Given the description of an element on the screen output the (x, y) to click on. 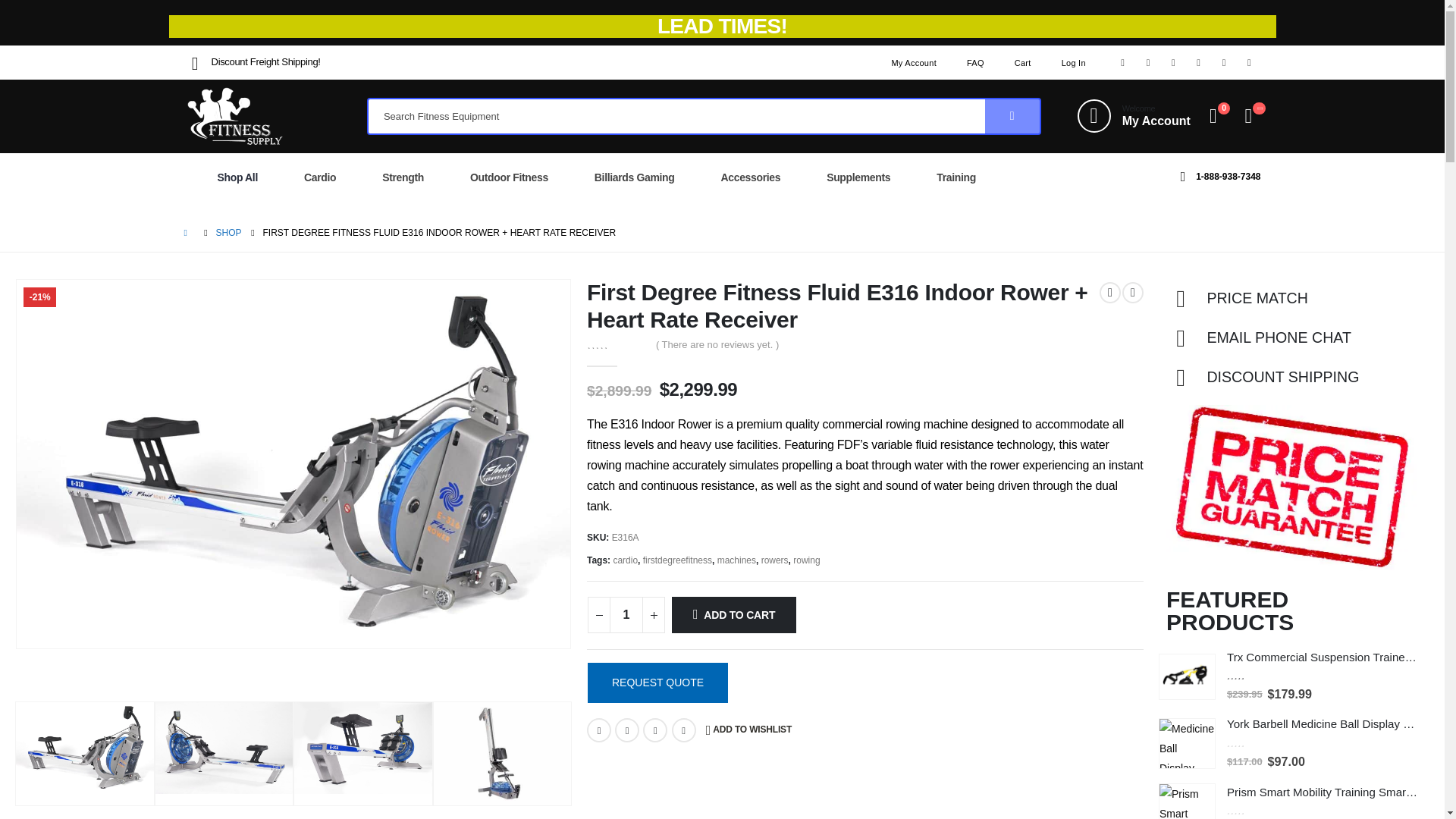
Email (683, 730)
Twitter (1147, 62)
Instagram (1134, 115)
Log In (1223, 62)
Cart (1073, 62)
Youtube (1022, 62)
Facebook (1198, 62)
1 (1123, 62)
0 (626, 615)
